Given the description of an element on the screen output the (x, y) to click on. 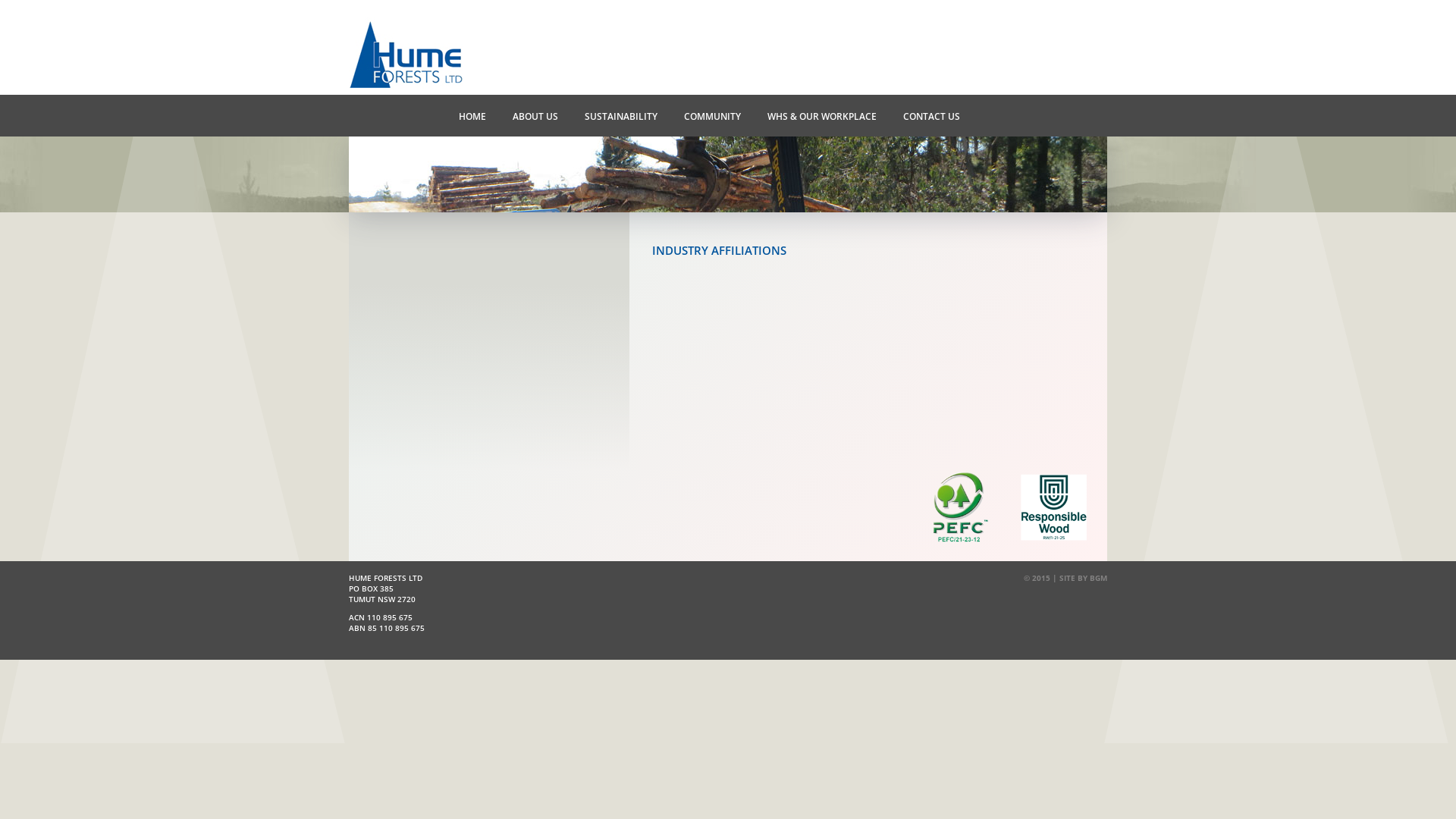
HOME Element type: text (470, 114)
SUSTAINABILITY Element type: text (618, 114)
ABOUT US Element type: text (533, 114)
COMMUNITY Element type: text (710, 114)
CONTACT US Element type: text (929, 114)
WHS & OUR WORKPLACE Element type: text (820, 114)
